Given the description of an element on the screen output the (x, y) to click on. 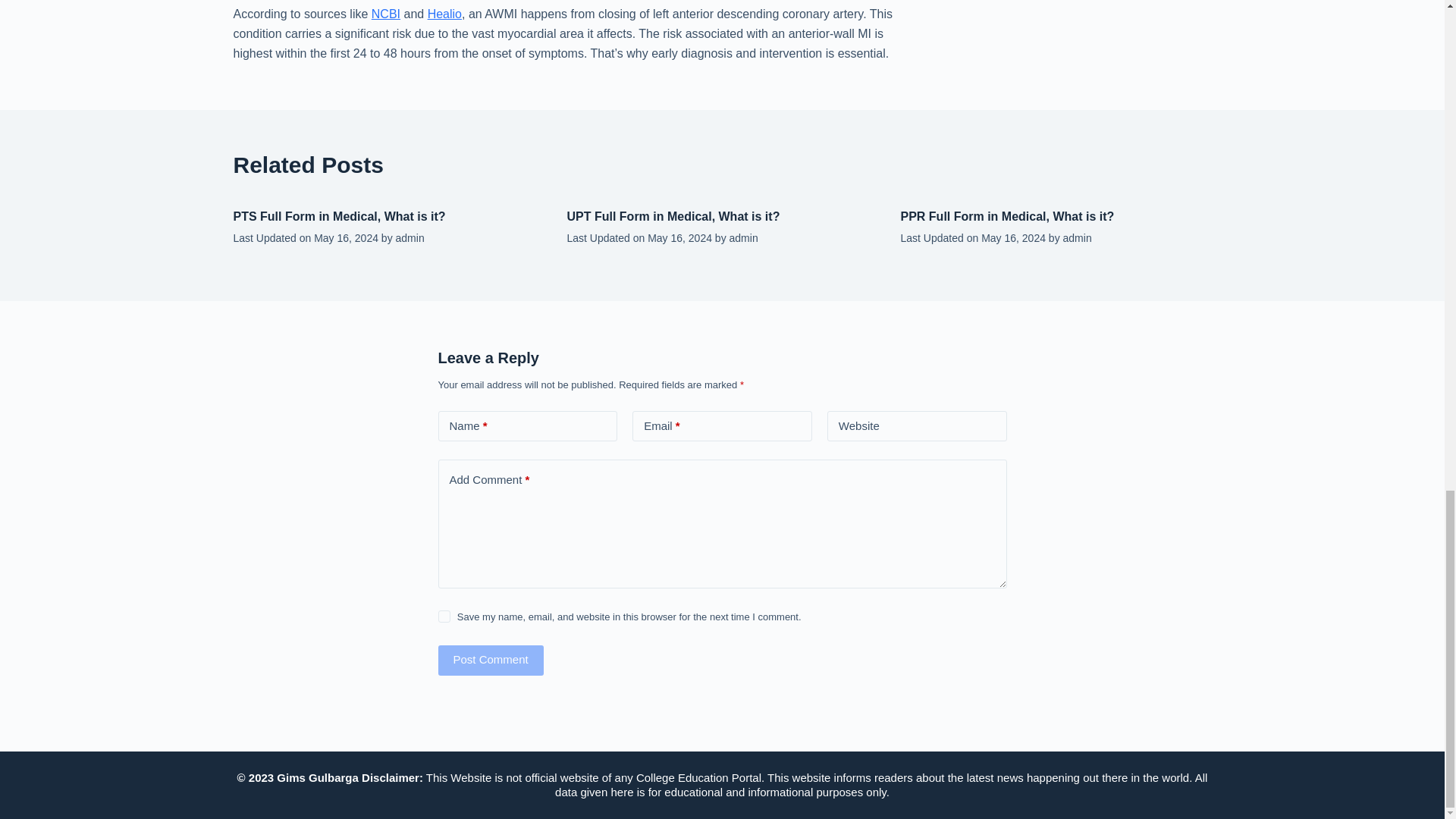
Healio (444, 13)
NCBI (385, 13)
yes (443, 616)
